Given the description of an element on the screen output the (x, y) to click on. 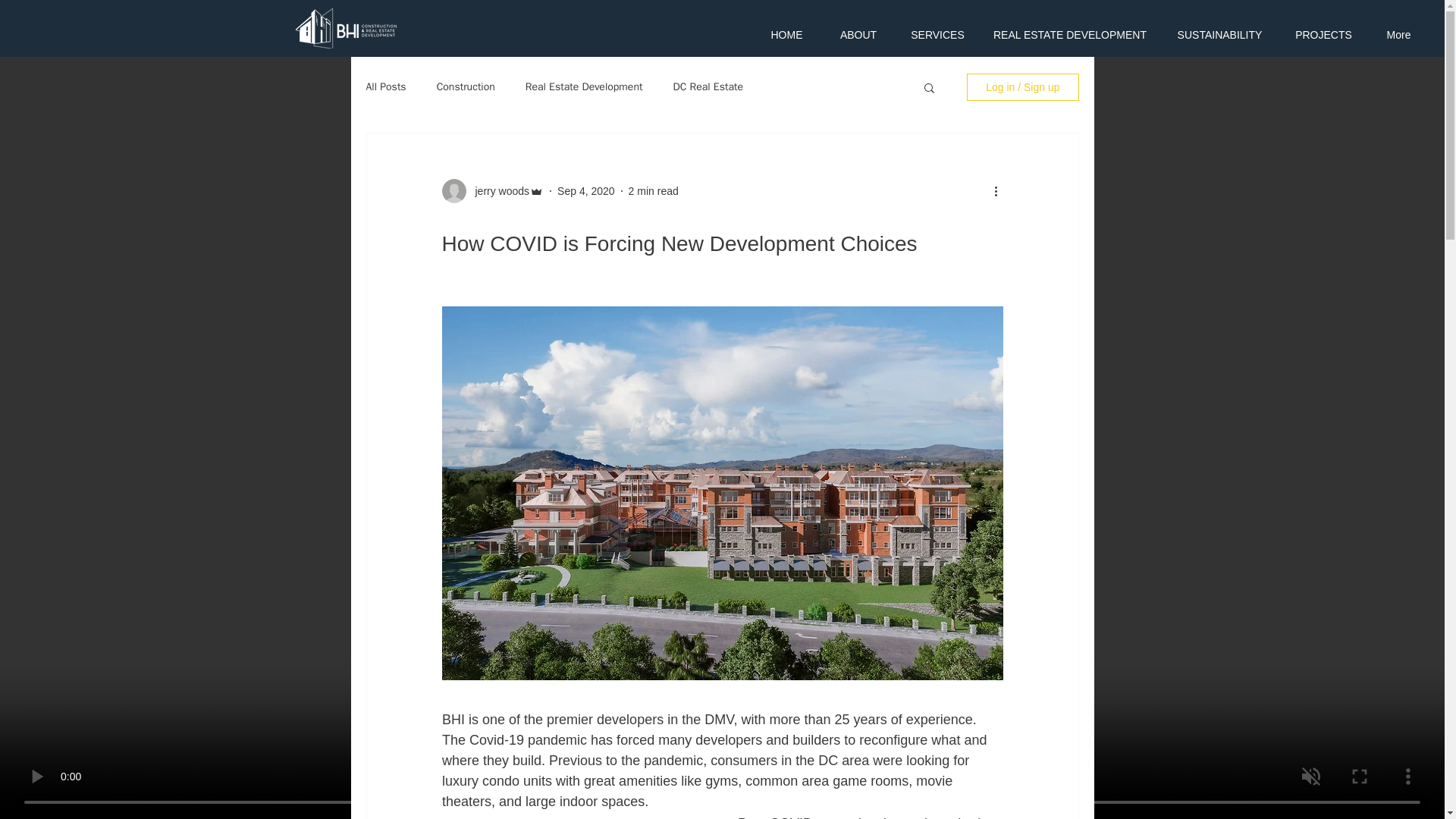
All Posts (385, 87)
SERVICES (937, 35)
ABOUT (858, 35)
REAL ESTATE DEVELOPMENT (1069, 35)
jerry woods (497, 191)
2 min read (653, 191)
DC Real Estate (707, 87)
Real Estate Development (584, 87)
PROJECTS (1323, 35)
SUSTAINABILITY (1219, 35)
